Given the description of an element on the screen output the (x, y) to click on. 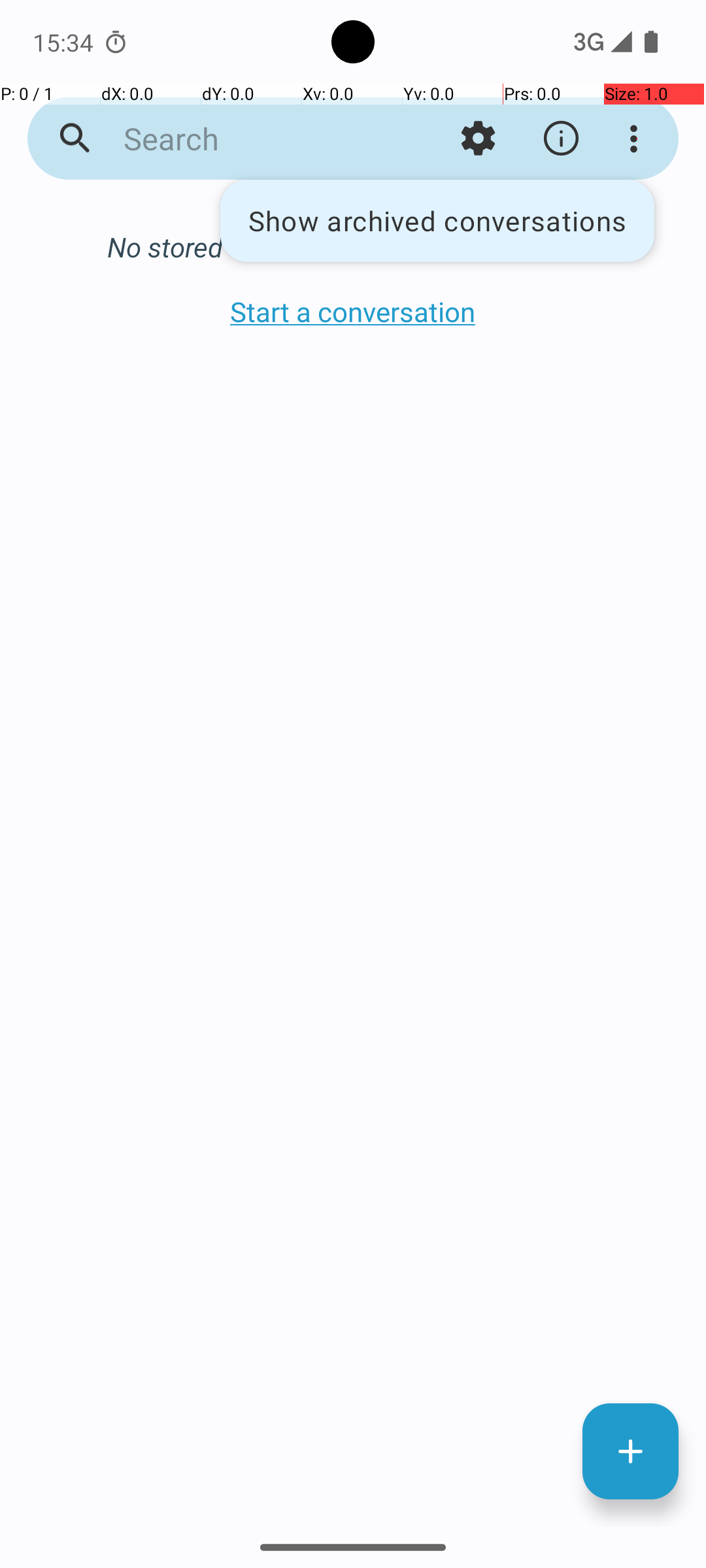
Show archived conversations Element type: android.widget.TextView (436, 220)
